Given the description of an element on the screen output the (x, y) to click on. 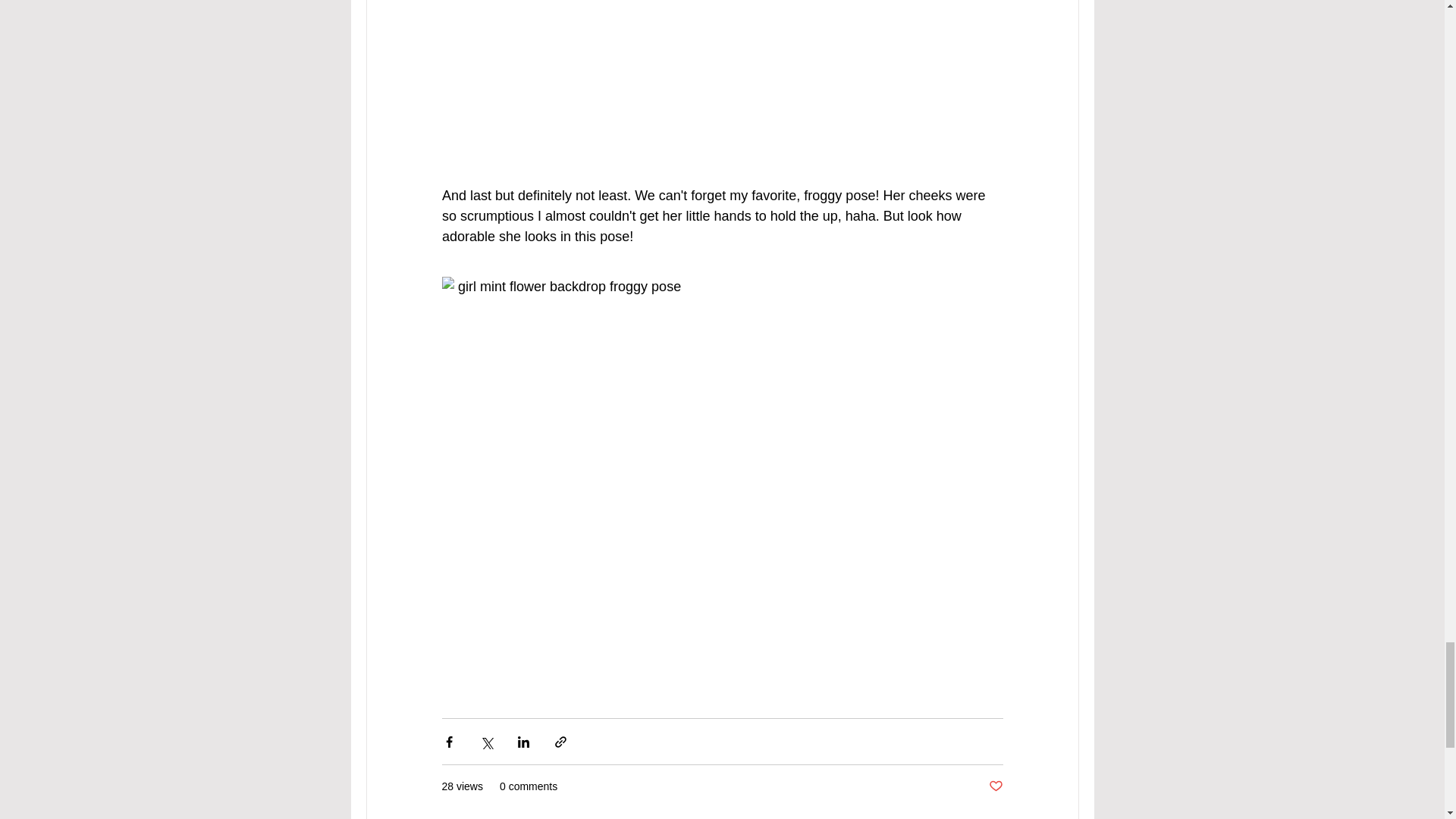
Post not marked as liked (995, 786)
